Given the description of an element on the screen output the (x, y) to click on. 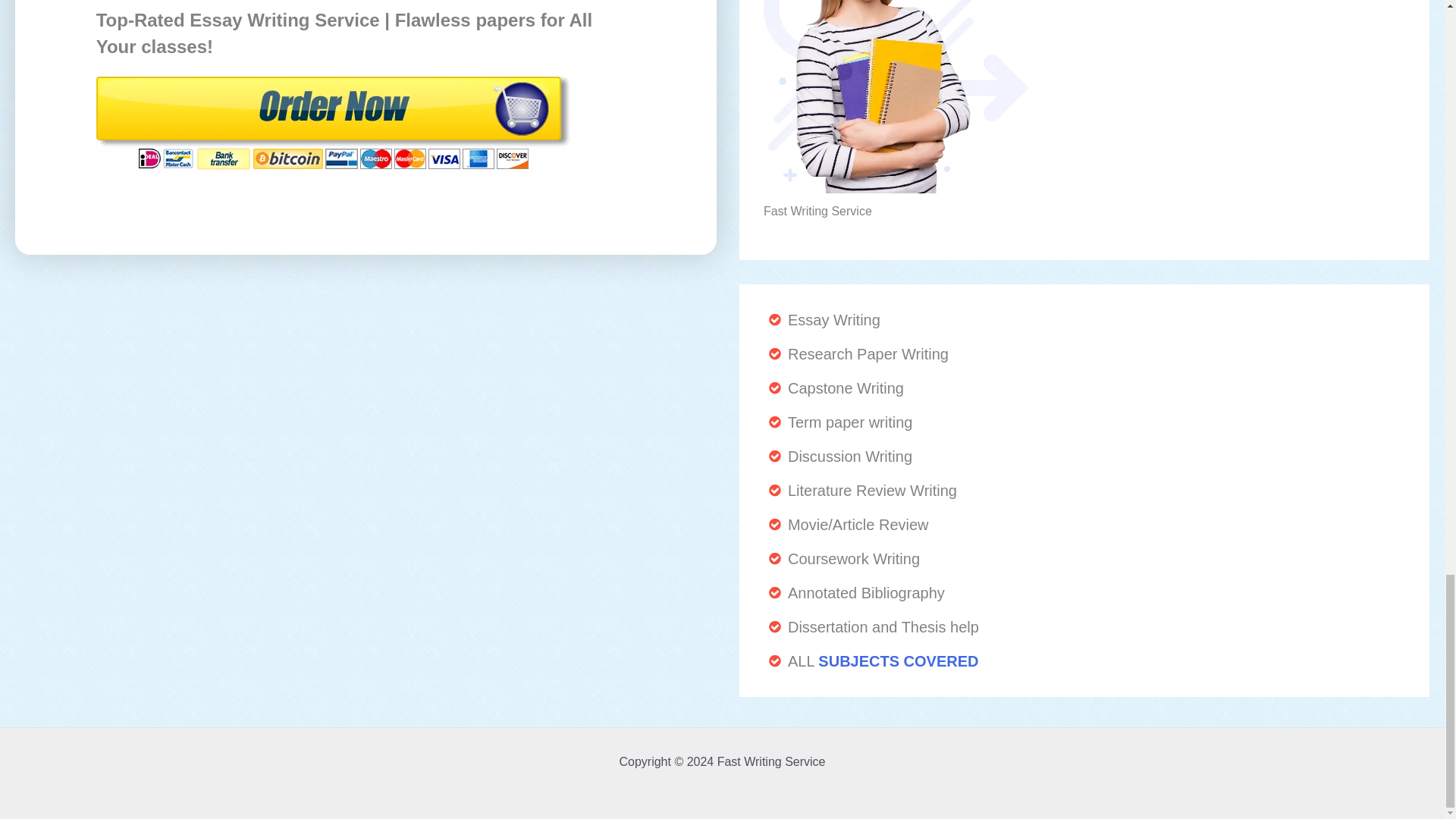
SUBJECTS COVERED (898, 660)
